Given the description of an element on the screen output the (x, y) to click on. 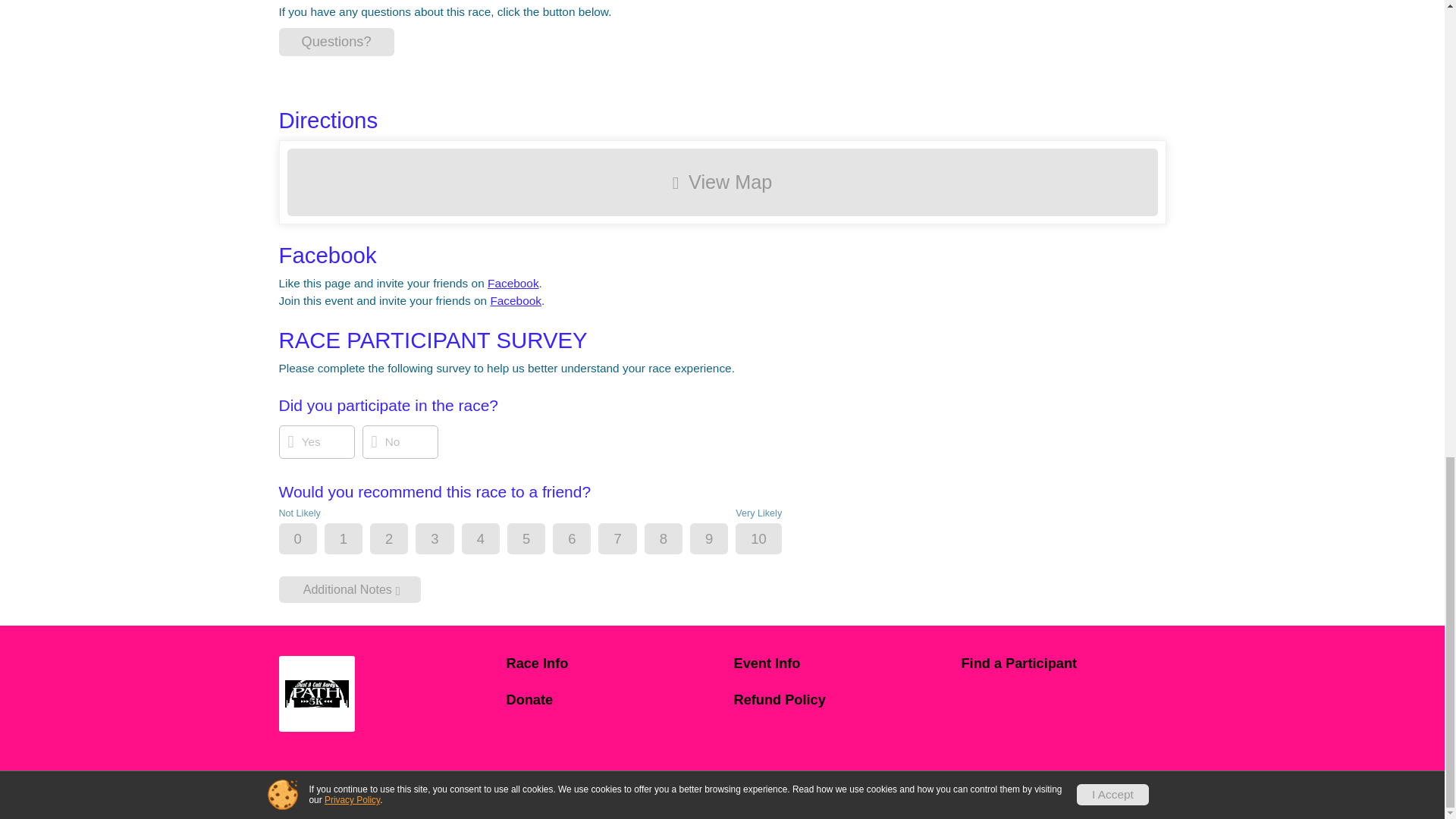
Event Info (836, 663)
0 (310, 539)
View Map (721, 182)
Facebook (512, 282)
6 (584, 539)
7 (629, 539)
8 (675, 539)
2 (401, 539)
Race Info (608, 663)
4 (493, 539)
